Given the description of an element on the screen output the (x, y) to click on. 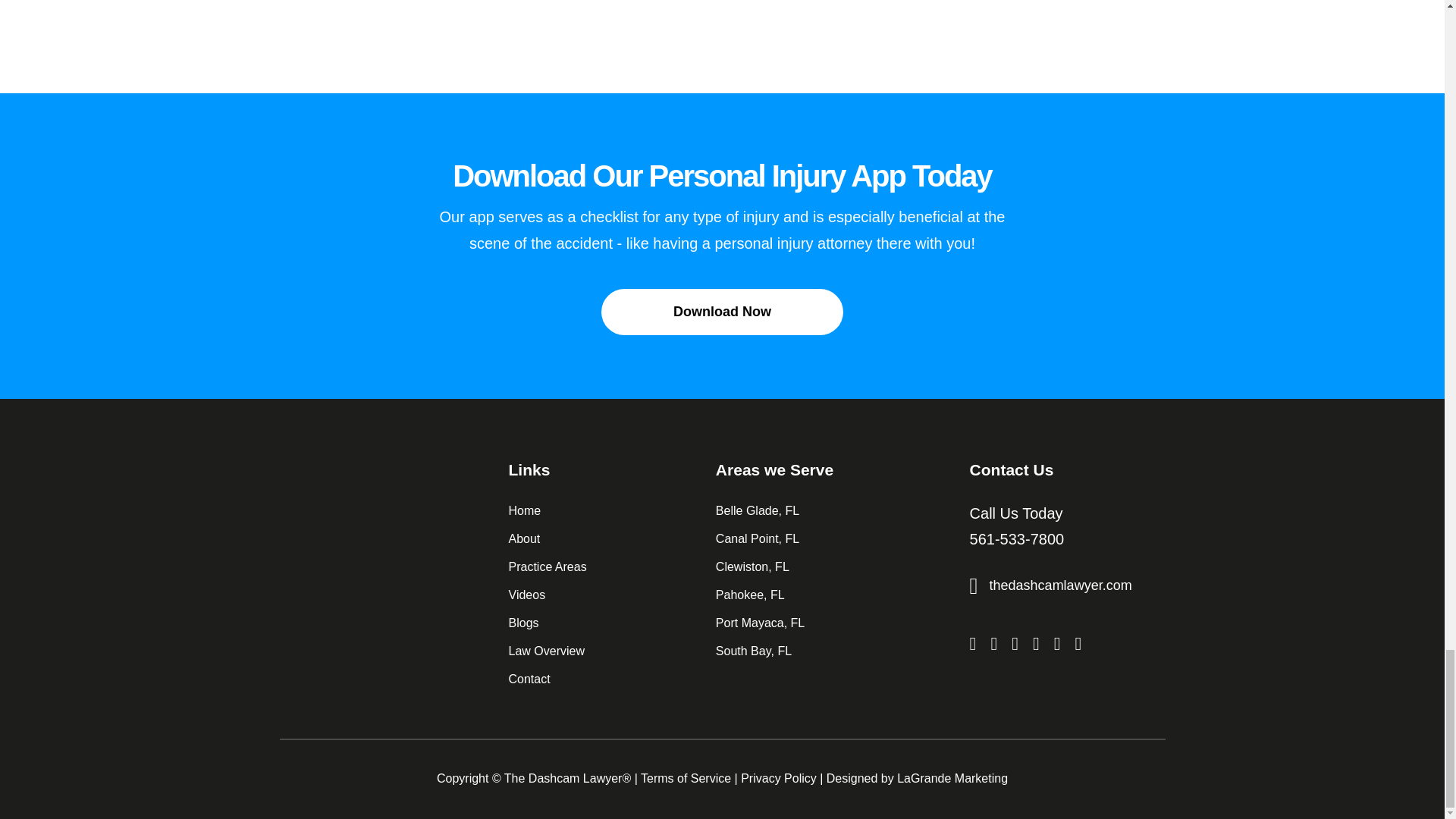
logo-footer (365, 486)
